Given the description of an element on the screen output the (x, y) to click on. 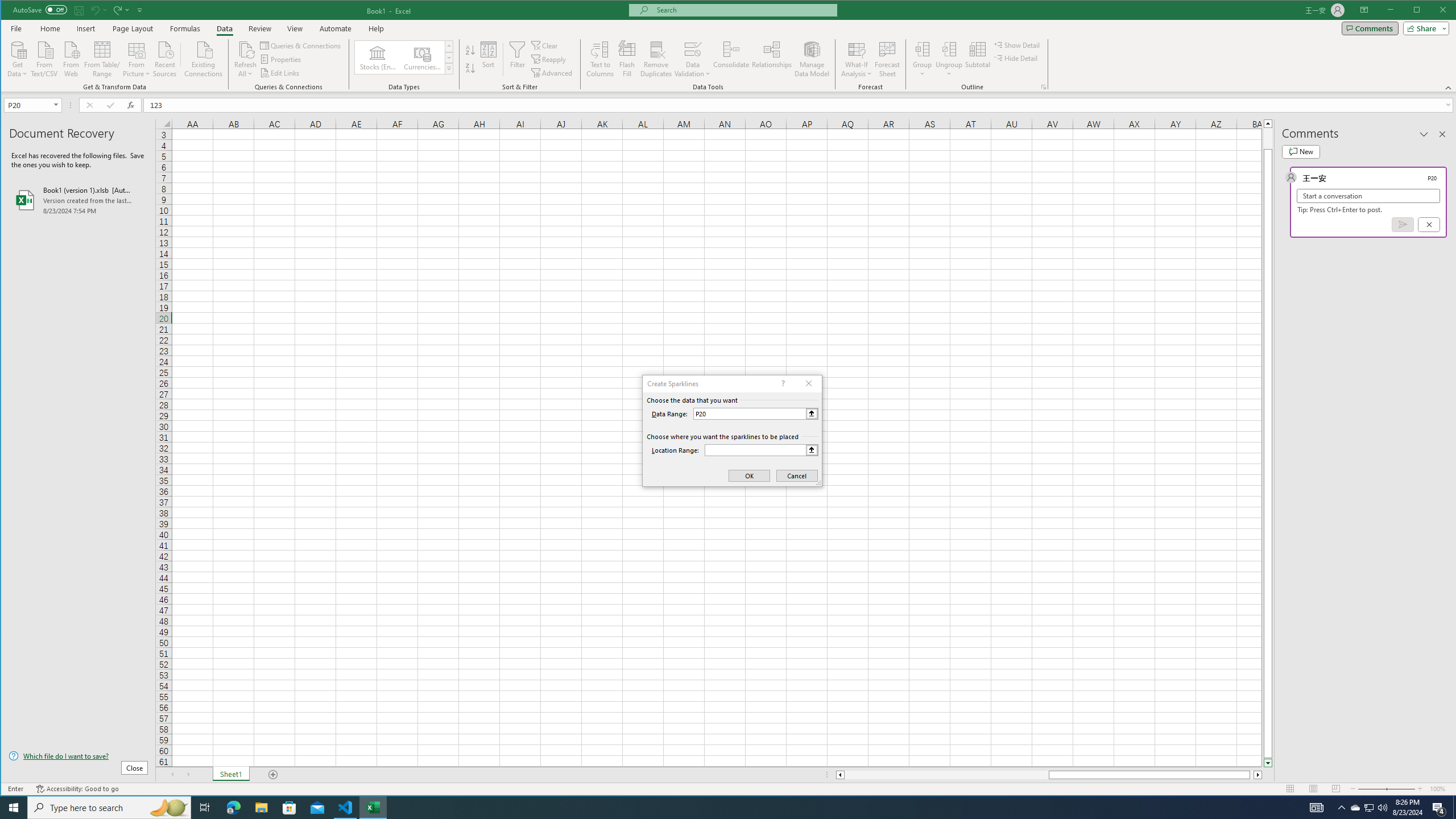
Class: MsoCommandBar (728, 45)
Data Types (448, 68)
Properties (280, 59)
Sort... (488, 59)
What-If Analysis (856, 59)
AutomationID: ConvertToLinkedEntity (403, 57)
